Given the description of an element on the screen output the (x, y) to click on. 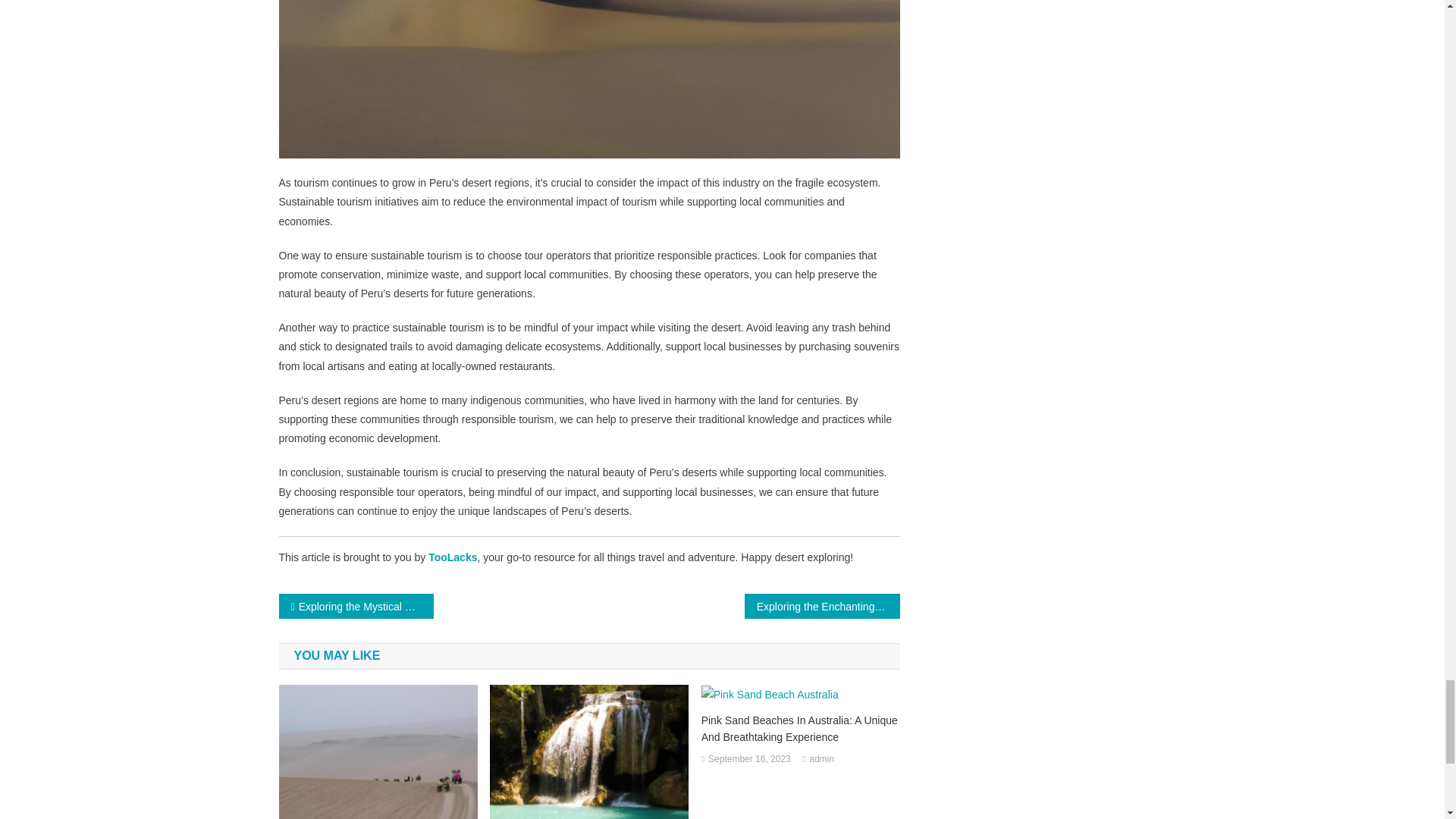
September 16, 2023 (748, 759)
admin (821, 759)
Exploring the Mystical Chestnut Ridge Eternal Flame (356, 606)
TooLacks (452, 557)
Exploring the Enchanting Green Sands Oasis in Hawaii (821, 606)
